Given the description of an element on the screen output the (x, y) to click on. 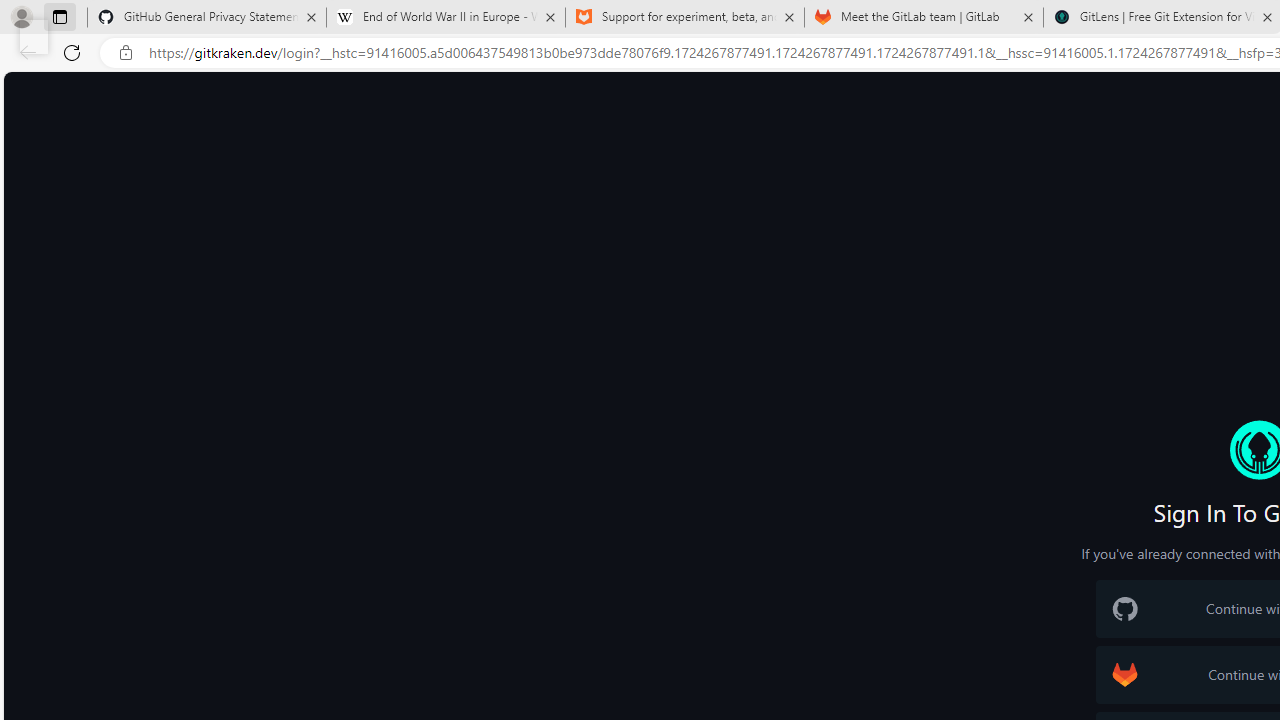
GitHub General Privacy Statement - GitHub Docs (207, 17)
GitLab Logo (1124, 674)
End of World War II in Europe - Wikipedia (445, 17)
Meet the GitLab team | GitLab (924, 17)
GitHub Logo (1124, 609)
